Given the description of an element on the screen output the (x, y) to click on. 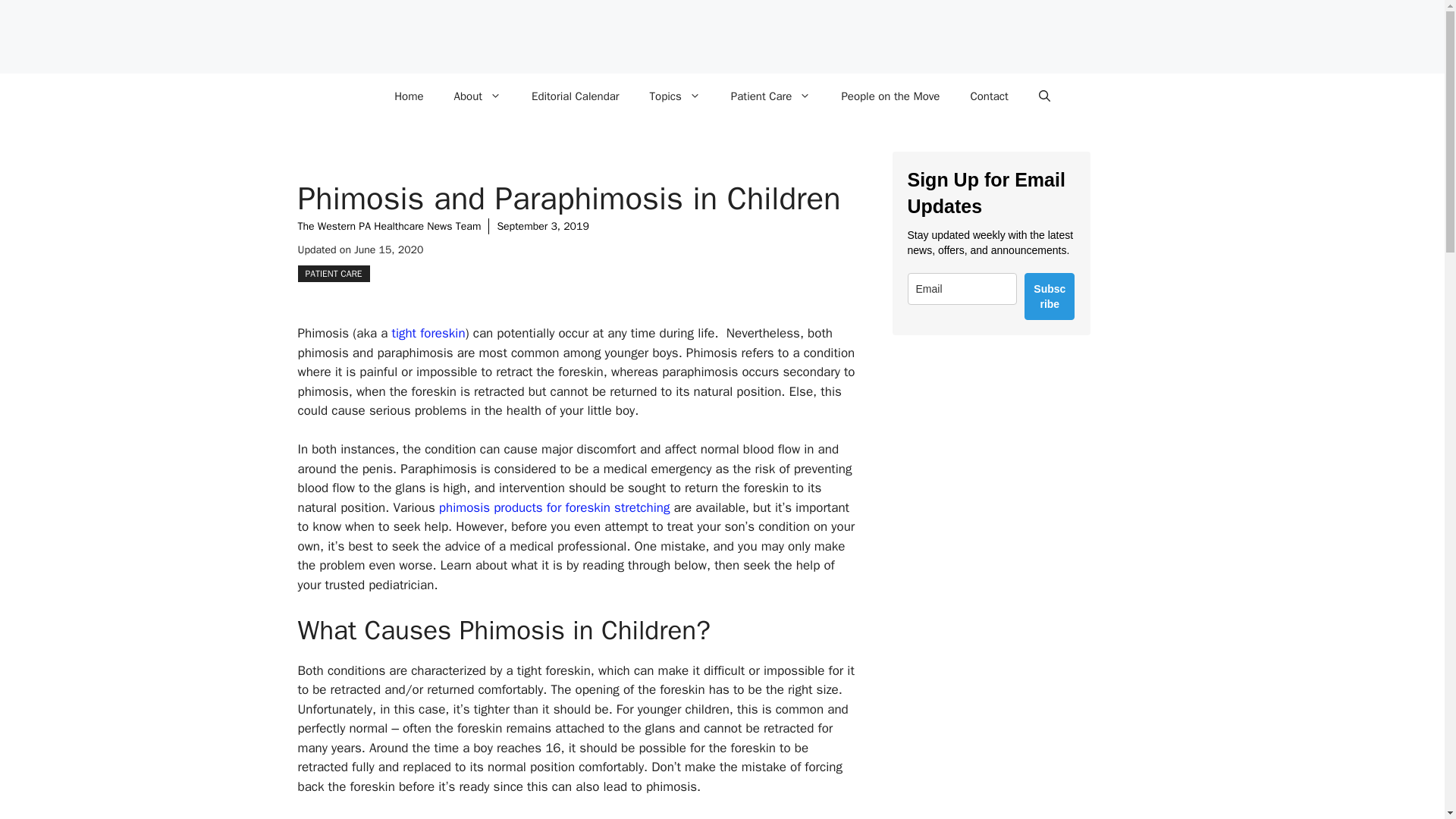
Patient Care (771, 95)
About (477, 95)
Contact (989, 95)
tight foreskin (427, 333)
PATIENT CARE (333, 273)
Editorial Calendar (575, 95)
Home (408, 95)
phimosis products for foreskin stretching (554, 507)
Topics (675, 95)
The Western PA Healthcare News Team (388, 226)
People on the Move (890, 95)
